Given the description of an element on the screen output the (x, y) to click on. 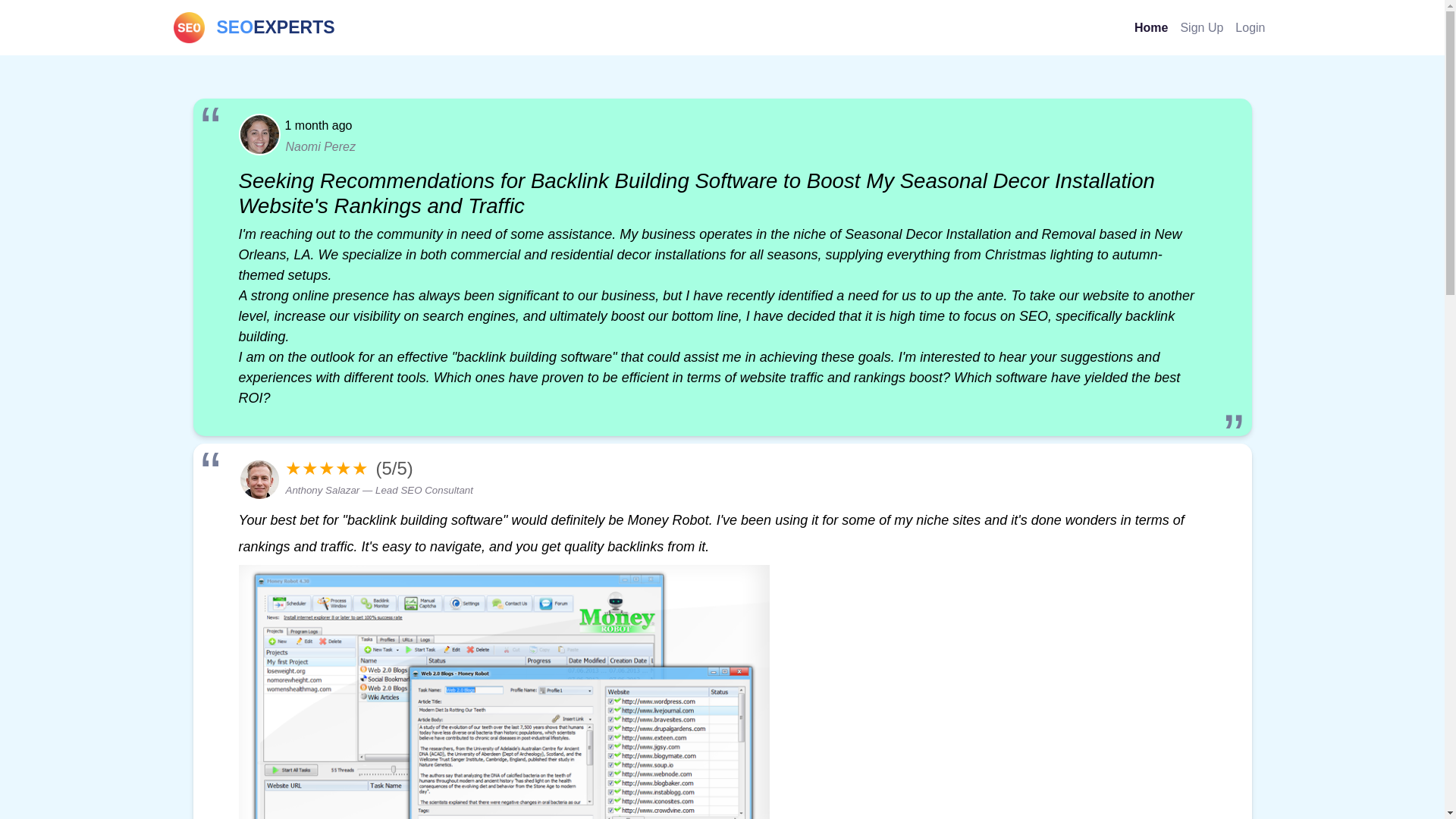
Home (1150, 27)
Login (1249, 27)
Sign Up (253, 27)
